Given the description of an element on the screen output the (x, y) to click on. 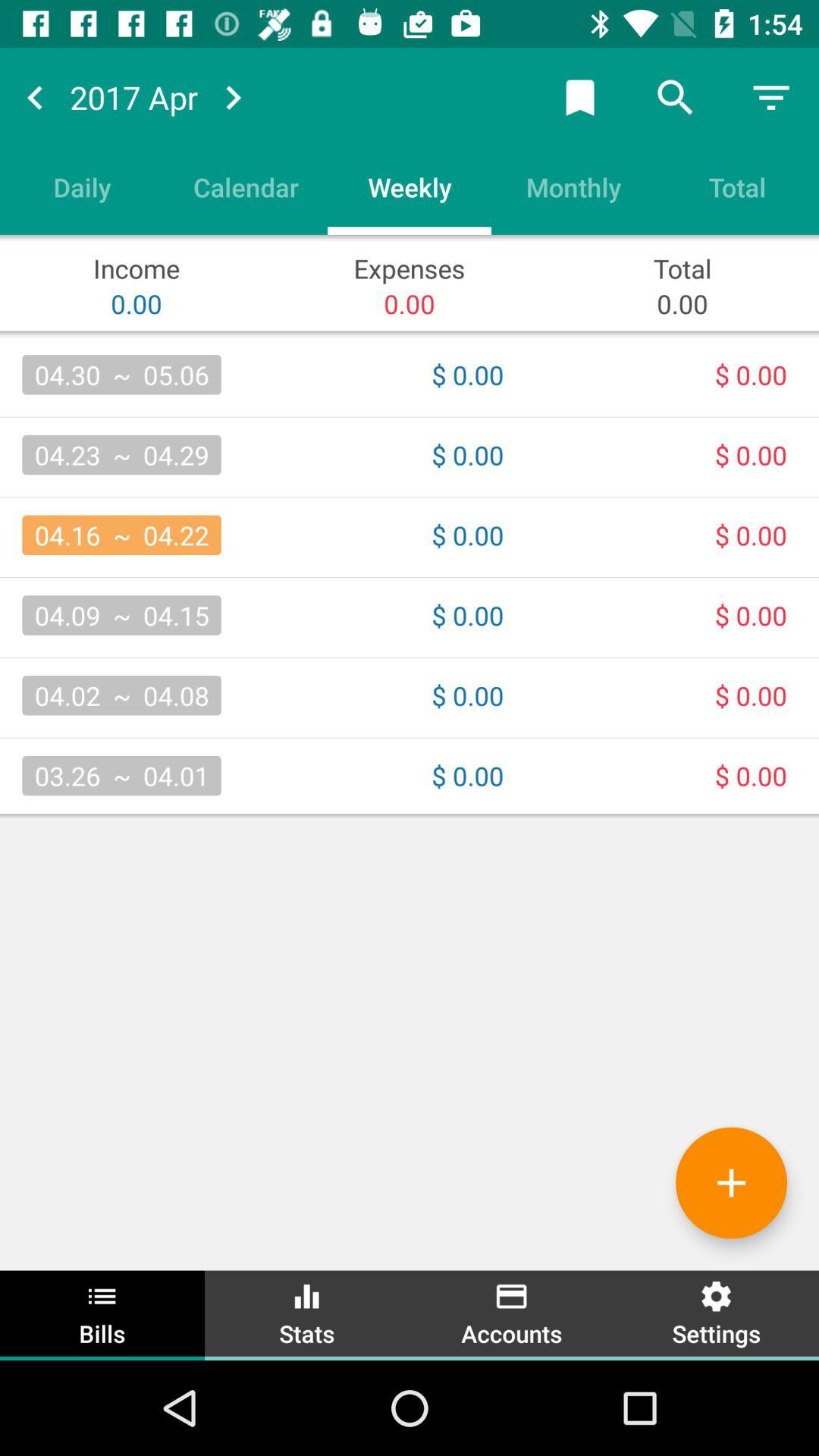
scroll to the monthly (573, 186)
